Given the description of an element on the screen output the (x, y) to click on. 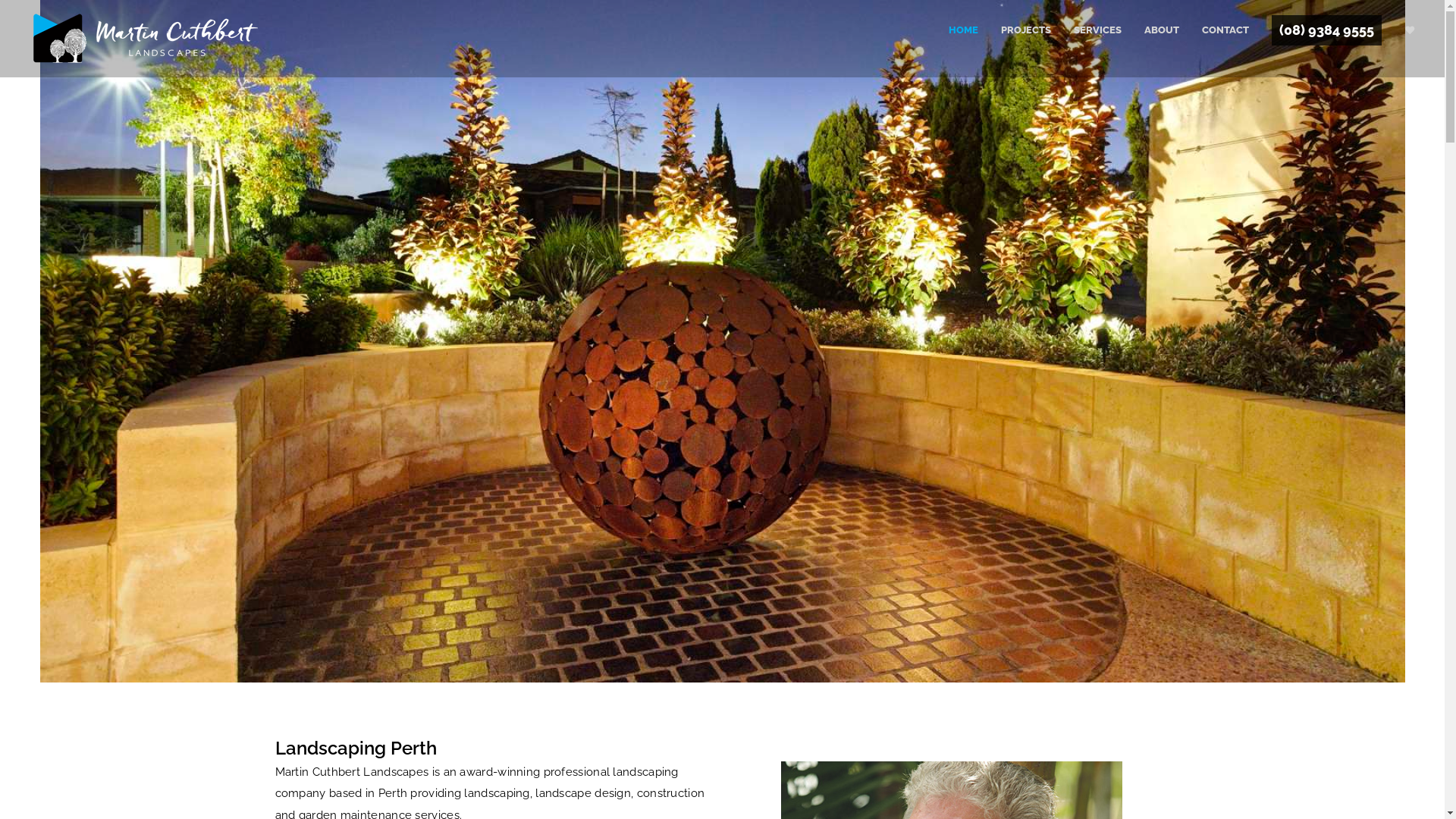
 HOME Element type: text (950, 30)
CONTACT Element type: text (1213, 30)
(08) 9384 9555 Element type: text (1326, 30)
SERVICES Element type: text (1086, 30)
PROJECTS Element type: text (1014, 30)
ABOUT Element type: text (1150, 30)
